Given the description of an element on the screen output the (x, y) to click on. 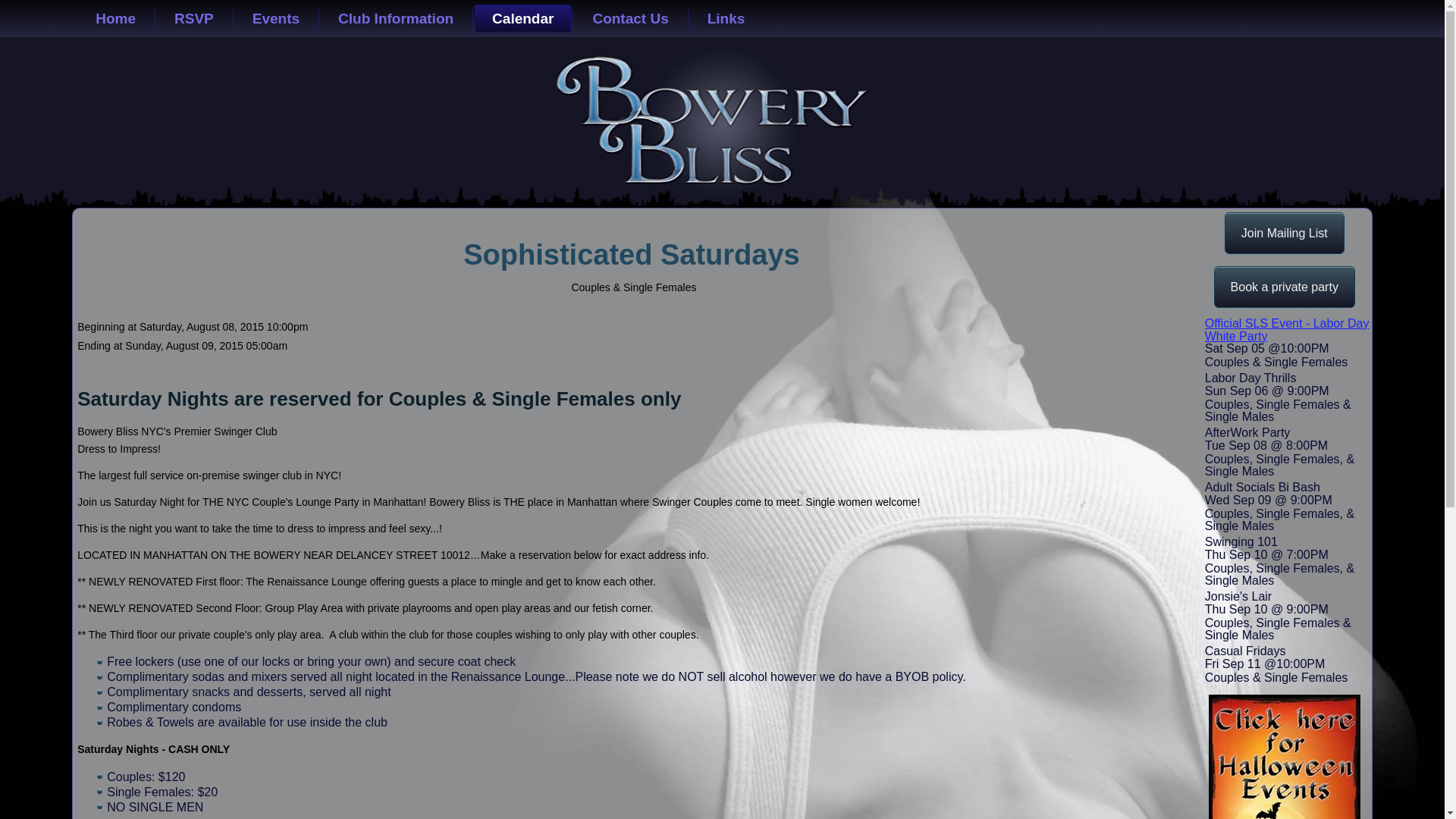
Events (275, 18)
Calendar (522, 18)
RSVP (194, 18)
Home (115, 18)
Club Information (395, 18)
Join Mailing List (1283, 232)
Contact Us (630, 18)
Links (726, 18)
Official SLS Event - Labor Day White Party (1287, 329)
Book a private party (1284, 286)
